Given the description of an element on the screen output the (x, y) to click on. 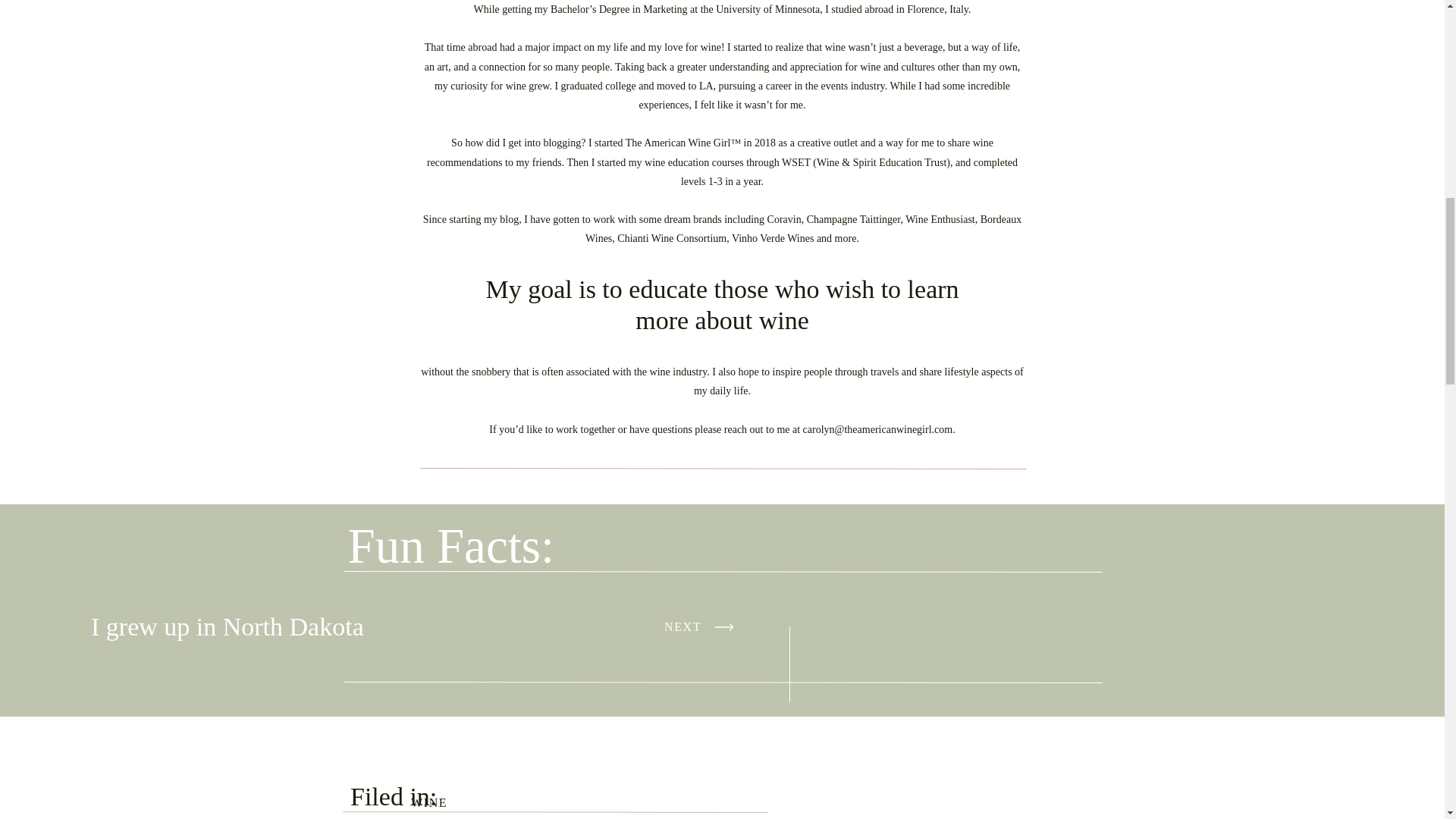
WINE (428, 802)
NEXT (700, 626)
The Best Wineries to Visit in Jerez de la Frontera (199, 788)
